Given the description of an element on the screen output the (x, y) to click on. 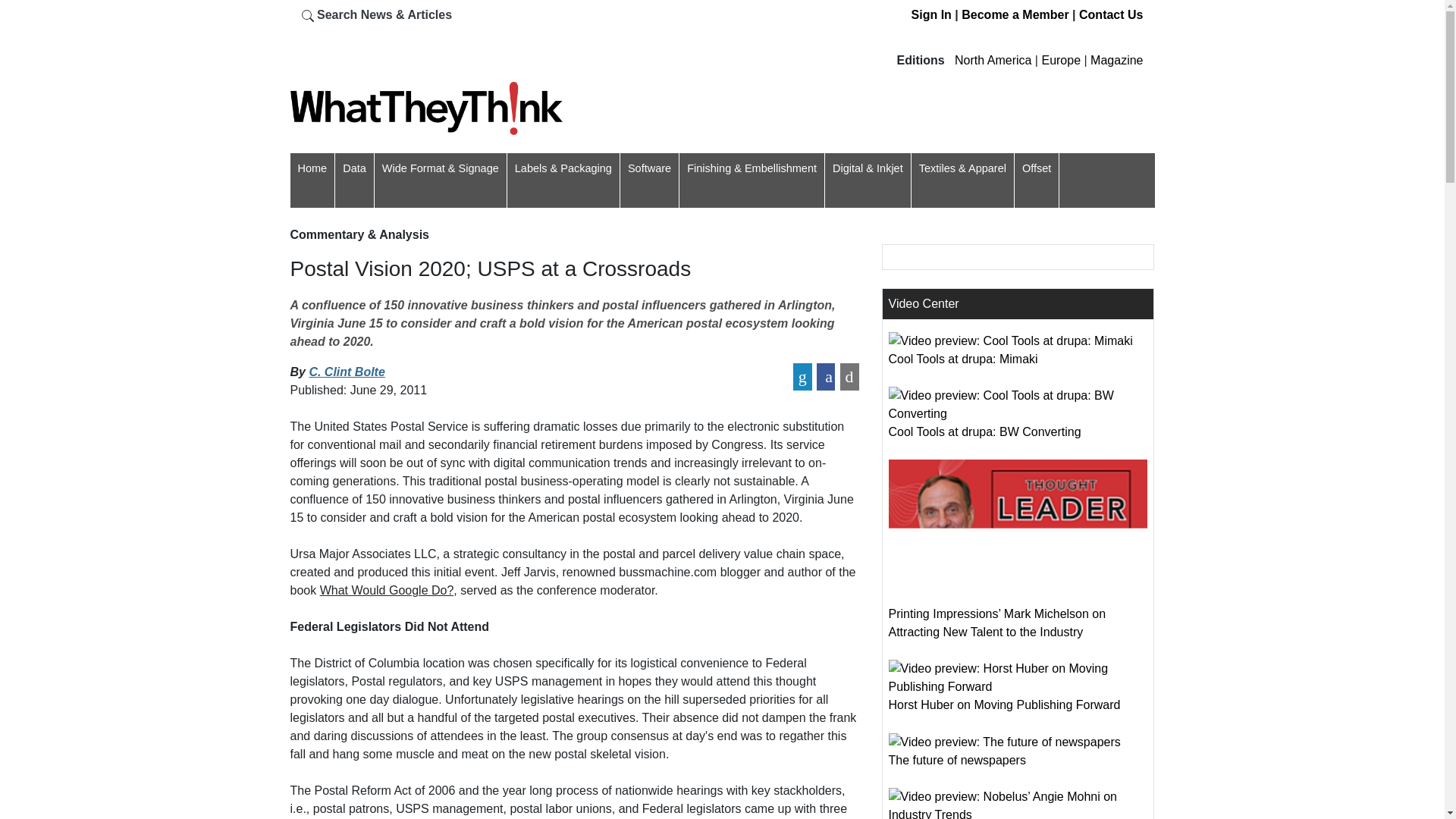
Home (311, 168)
Contact Us (1110, 14)
Software (649, 168)
Europe (1060, 60)
North America (992, 60)
Magazine (1116, 60)
Data (354, 168)
Sign In (931, 14)
Become a Member (1014, 14)
